Given the description of an element on the screen output the (x, y) to click on. 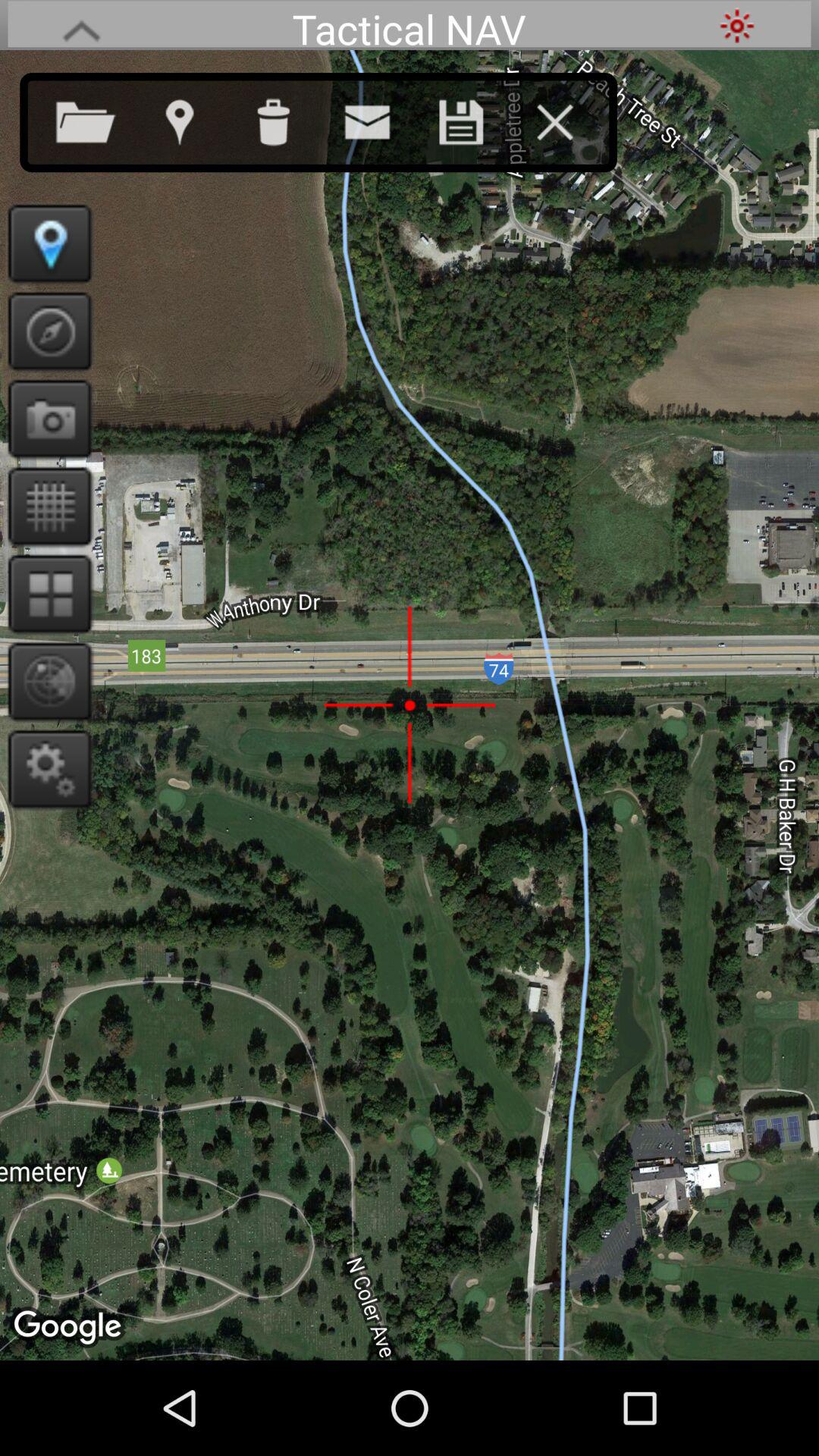
delete point (288, 119)
